Given the description of an element on the screen output the (x, y) to click on. 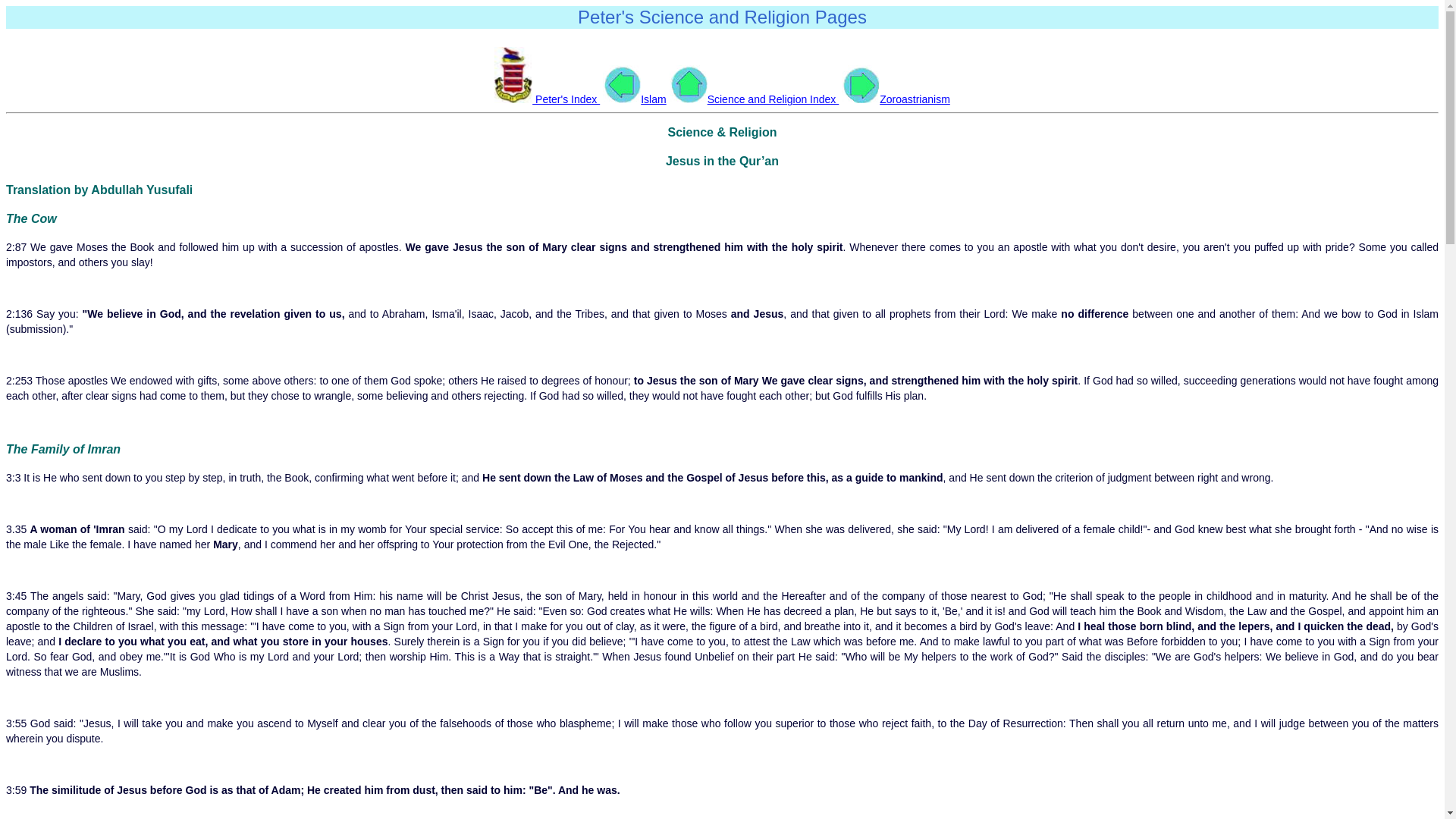
Zoroastrianism Element type: text (895, 99)
Science and Religion Index  Element type: text (754, 99)
 Peter's Index  Element type: text (546, 99)
Islam Element type: text (633, 99)
